Given the description of an element on the screen output the (x, y) to click on. 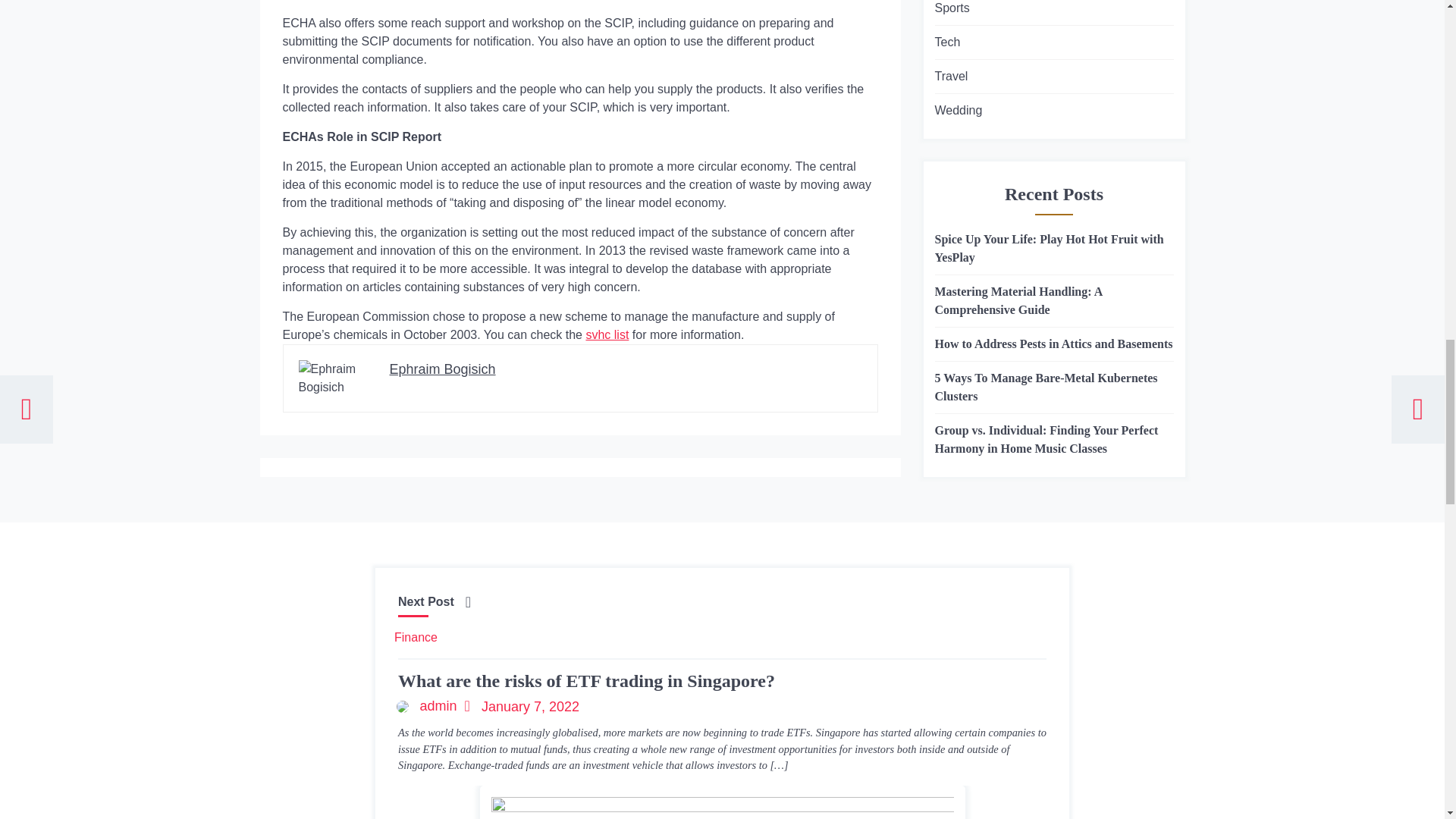
Ephraim Bogisich (443, 368)
svhc list (606, 334)
